Given the description of an element on the screen output the (x, y) to click on. 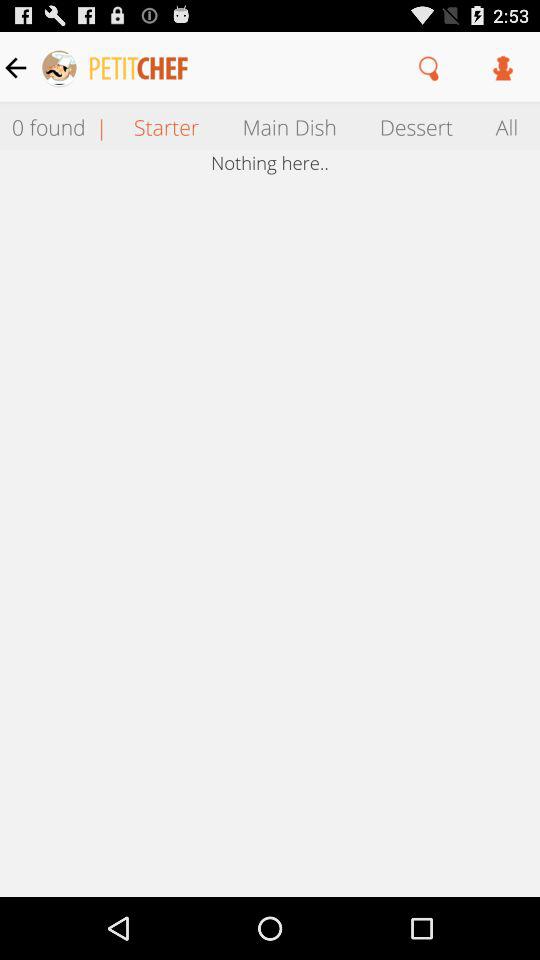
launch the icon next to dessert icon (289, 126)
